Given the description of an element on the screen output the (x, y) to click on. 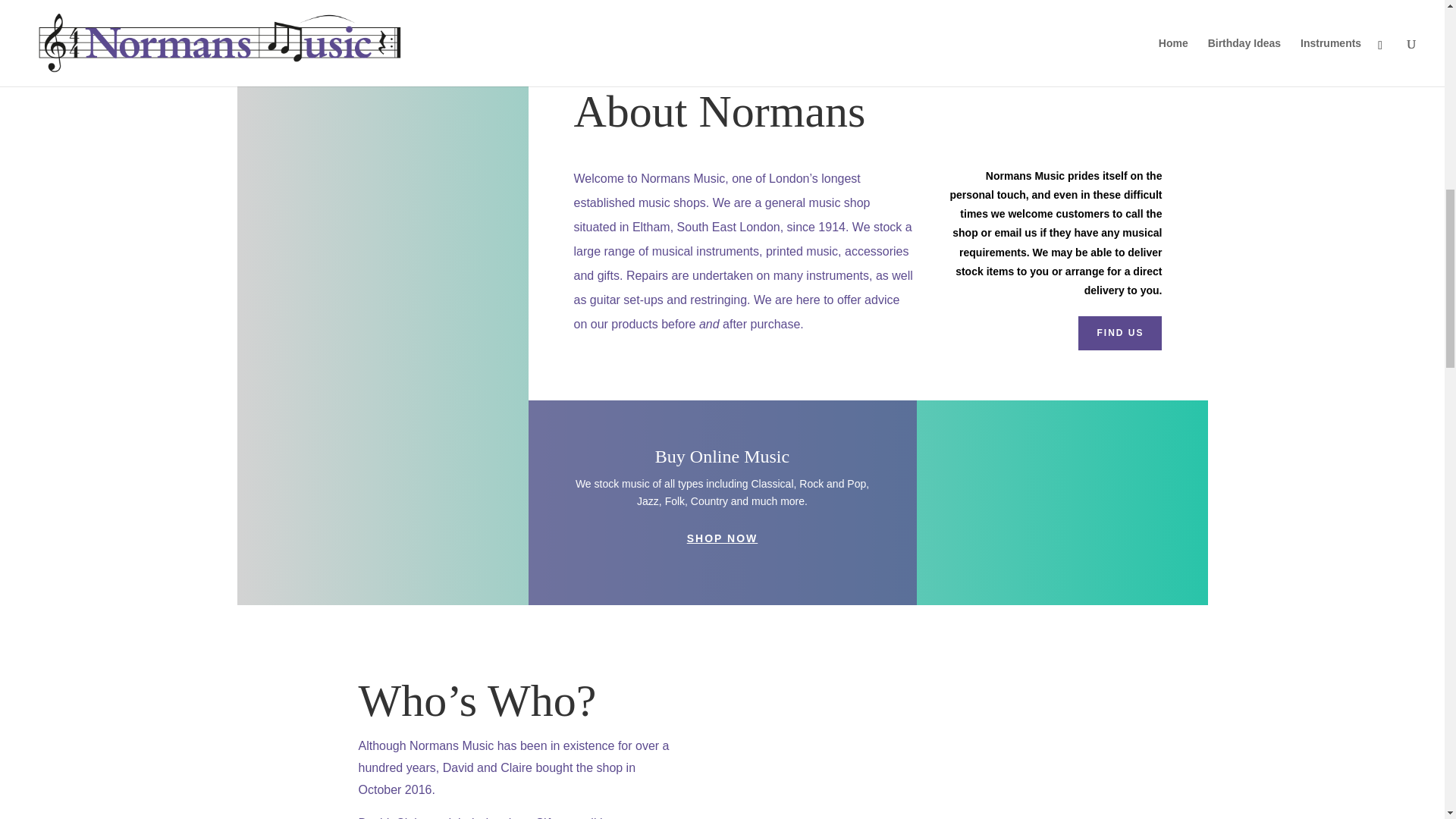
FIND US (1119, 332)
SHOP NOW (721, 538)
